Given the description of an element on the screen output the (x, y) to click on. 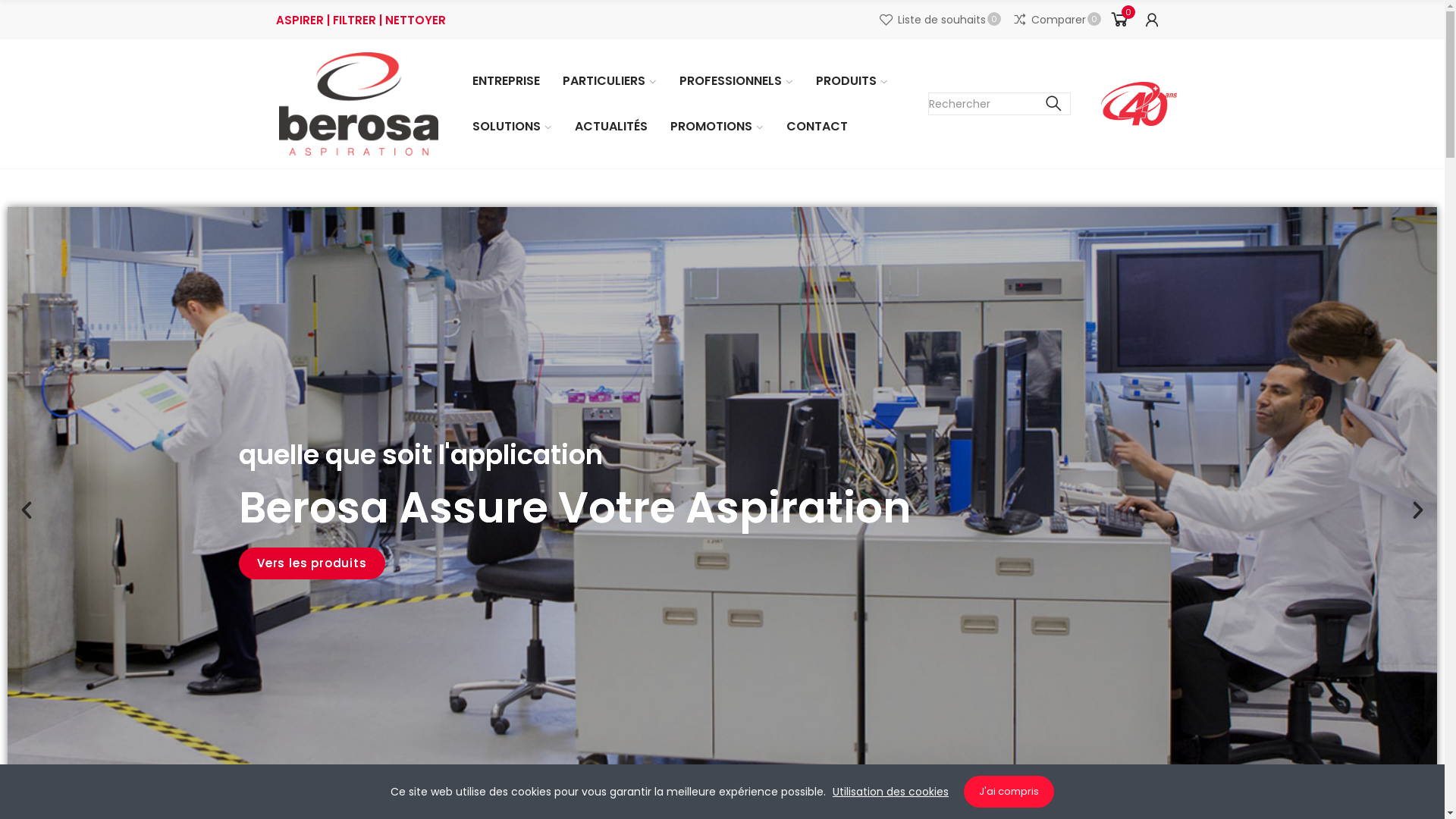
PARTICULIERS Element type: text (608, 80)
ENTREPRISE Element type: text (505, 80)
CONTACT Element type: text (816, 126)
PRODUITS Element type: text (851, 80)
Comparer
0 Element type: text (1056, 19)
Vers les produits Element type: text (822, 563)
SOLUTIONS Element type: text (511, 126)
Chercher Element type: text (1053, 103)
J'ai compris Element type: text (1008, 791)
Envoyer Element type: text (773, 636)
Utilisation des cookies Element type: text (890, 791)
PROFESSIONNELS Element type: text (735, 80)
0 Element type: text (1117, 19)
Mon compte Element type: hover (1151, 19)
Liste de souhaits
0 Element type: text (939, 19)
PROMOTIONS Element type: text (715, 126)
